Given the description of an element on the screen output the (x, y) to click on. 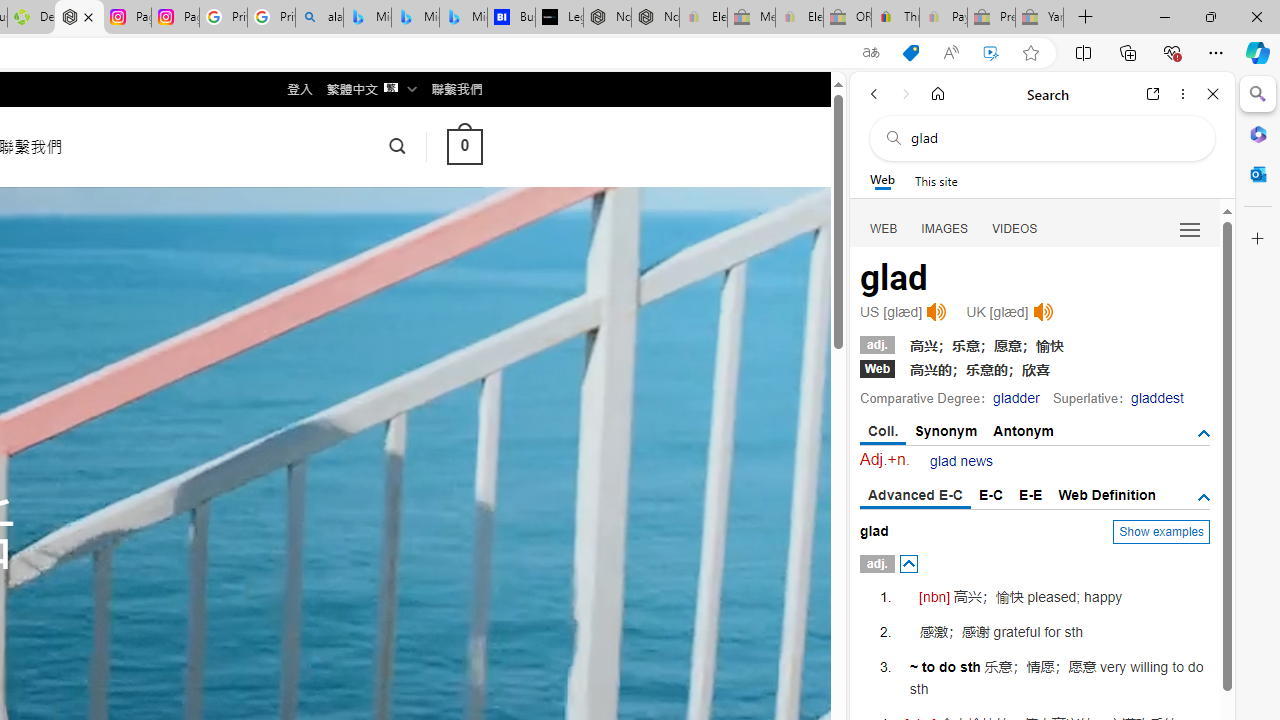
E-E (1030, 494)
Microsoft Bing Travel - Flights from Hong Kong to Bangkok (367, 17)
glad news (962, 461)
